Given the description of an element on the screen output the (x, y) to click on. 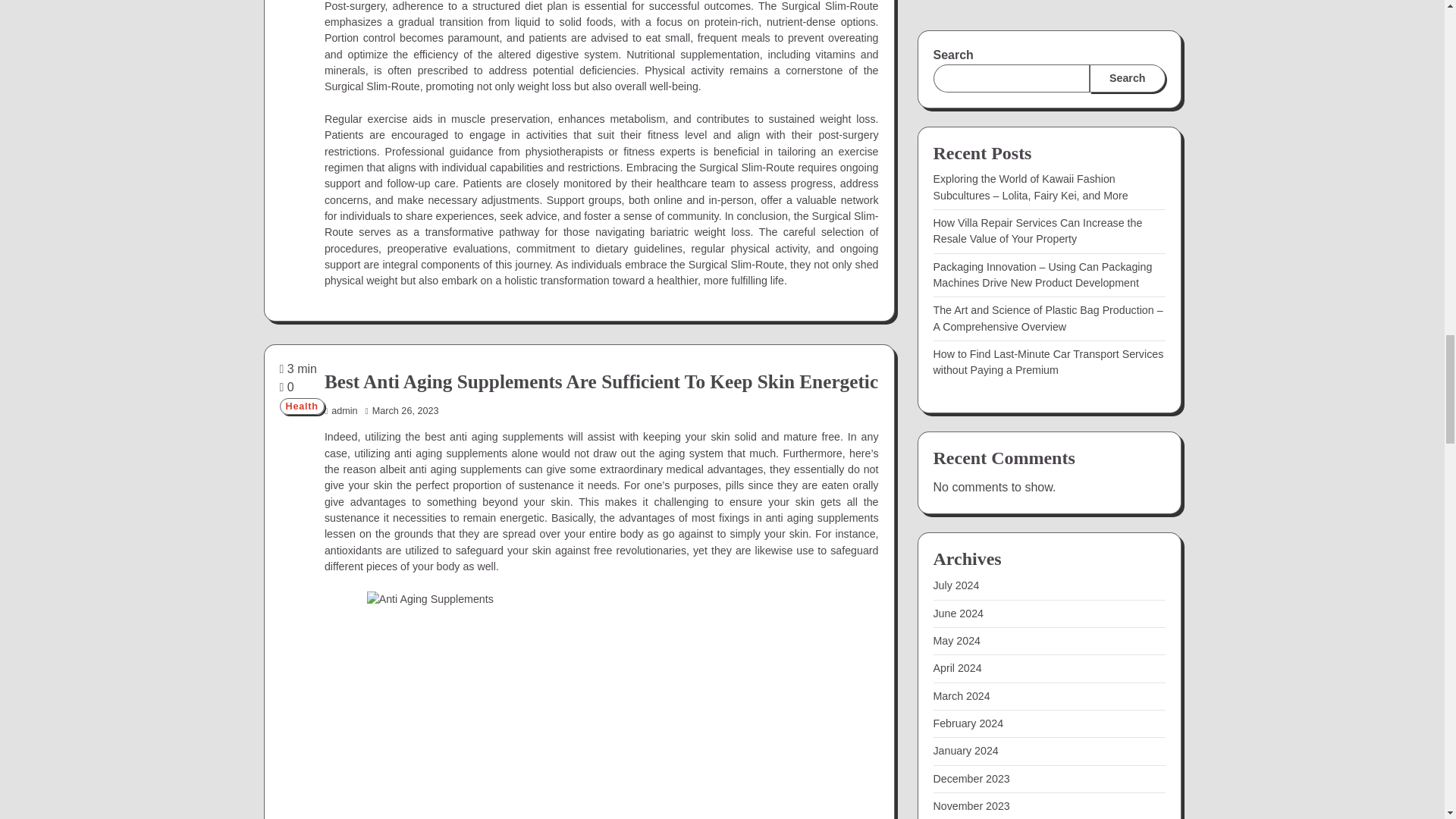
admin (341, 410)
Health (301, 406)
